Given the description of an element on the screen output the (x, y) to click on. 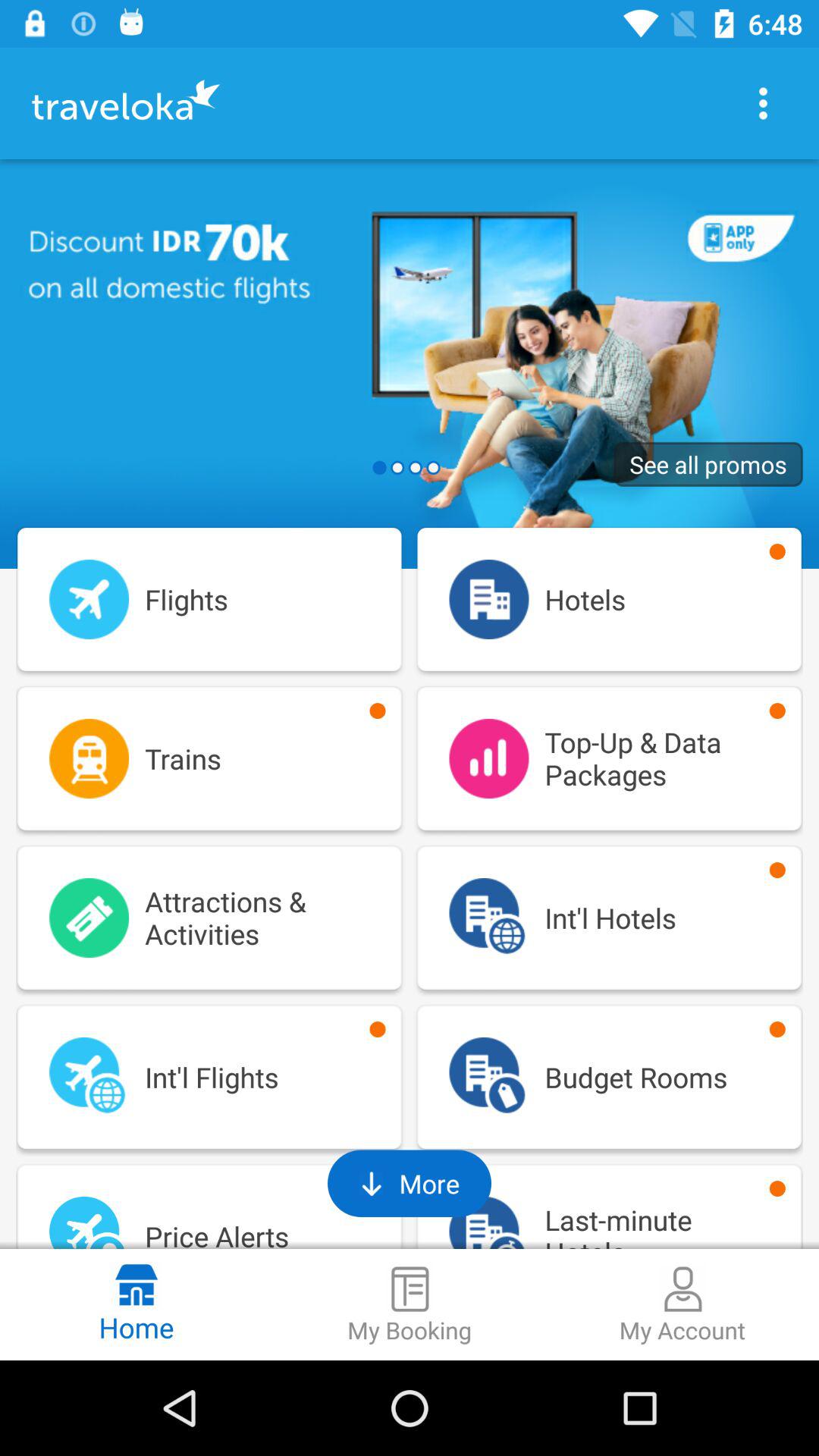
see more options (763, 103)
